Given the description of an element on the screen output the (x, y) to click on. 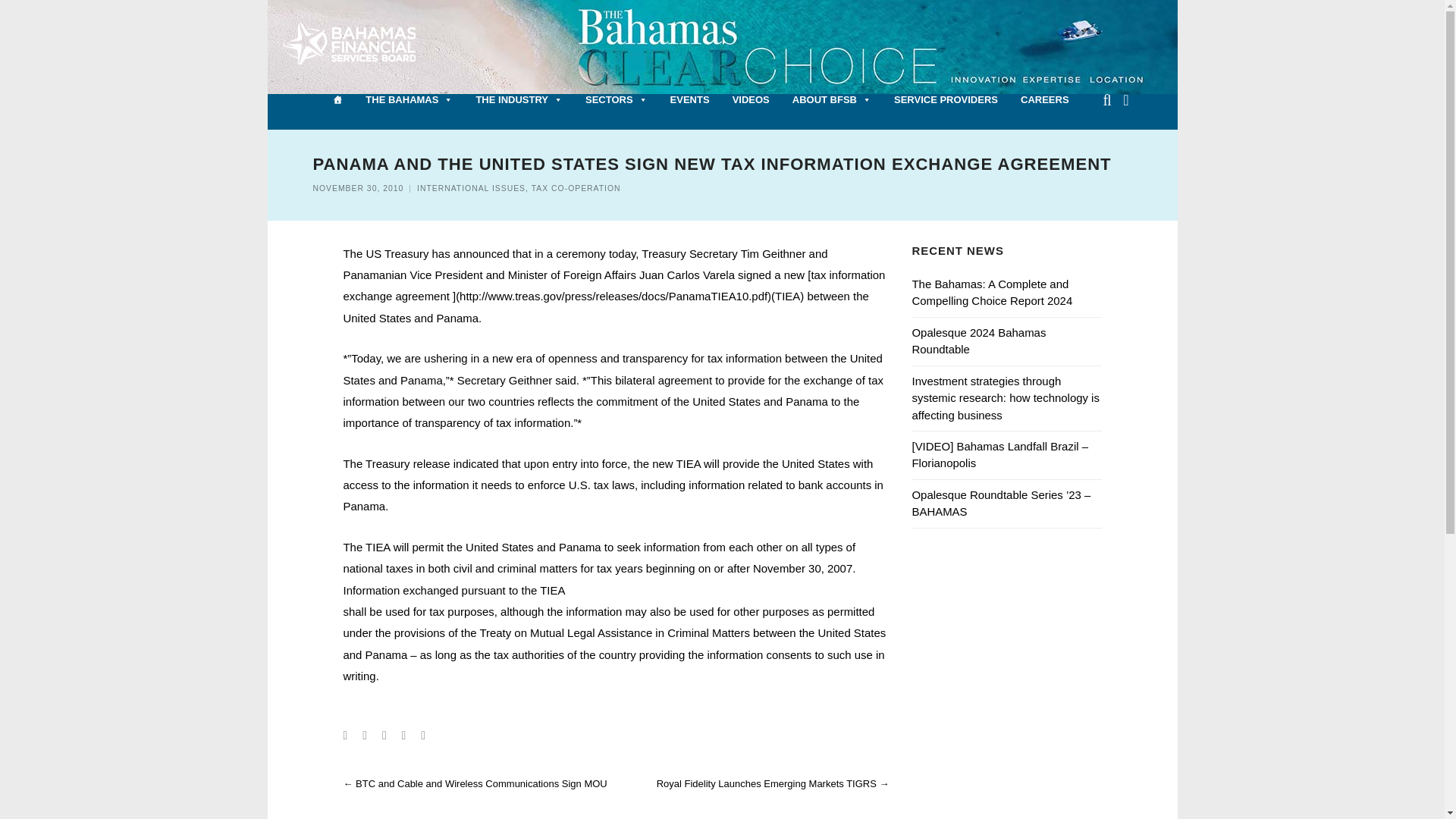
Share on Facebook (344, 735)
Share on Pinterest (422, 735)
View all posts in International Issues (470, 188)
View all posts in Tax Co-operation (576, 188)
Share on Twitter (364, 735)
